Given the description of an element on the screen output the (x, y) to click on. 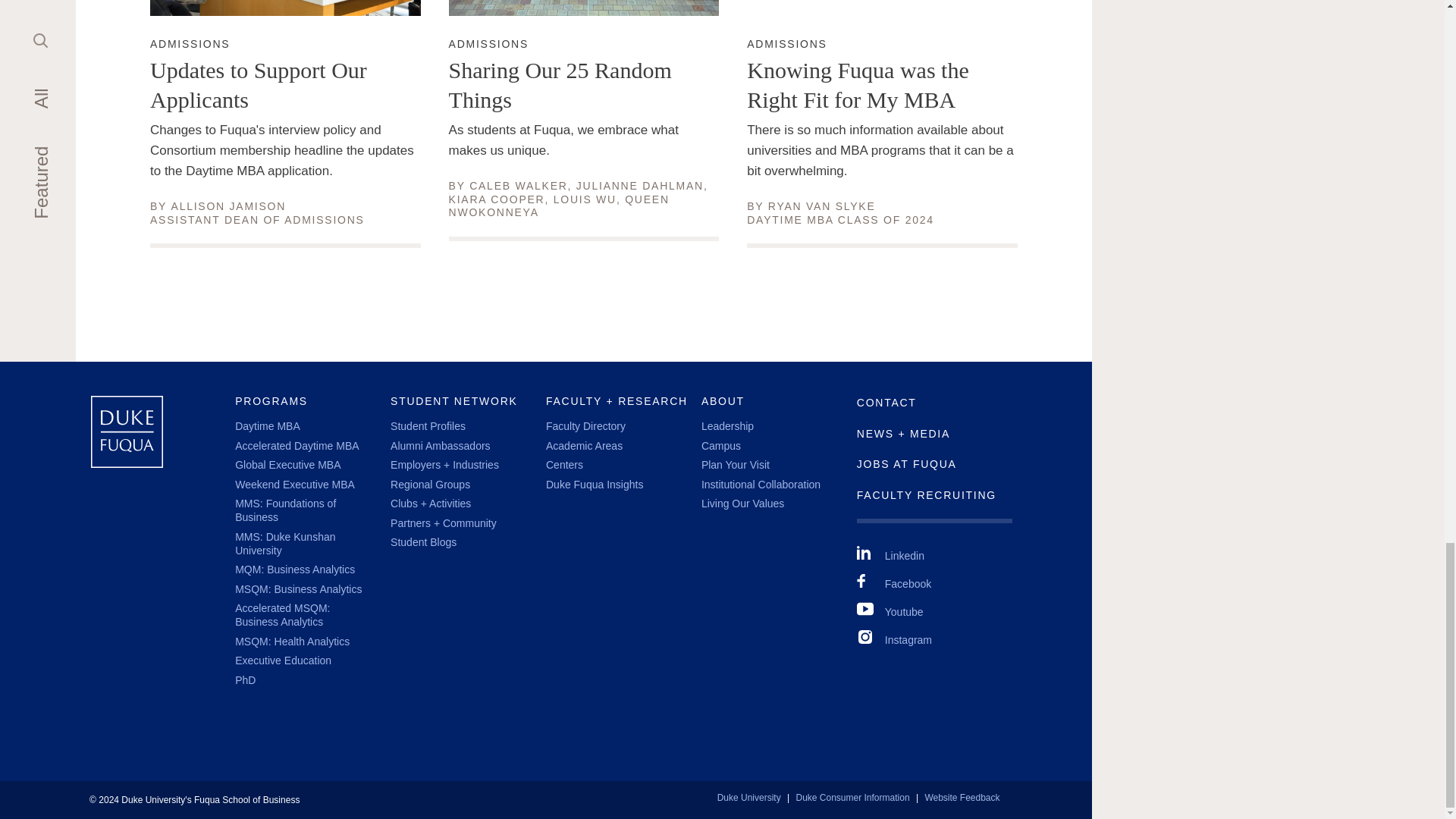
MQM: Business Analytics (517, 185)
MSQM: Business Analytics (488, 43)
Global Executive MBA (294, 569)
Knowing Fuqua was the Right Fit for My MBA (297, 589)
